Given the description of an element on the screen output the (x, y) to click on. 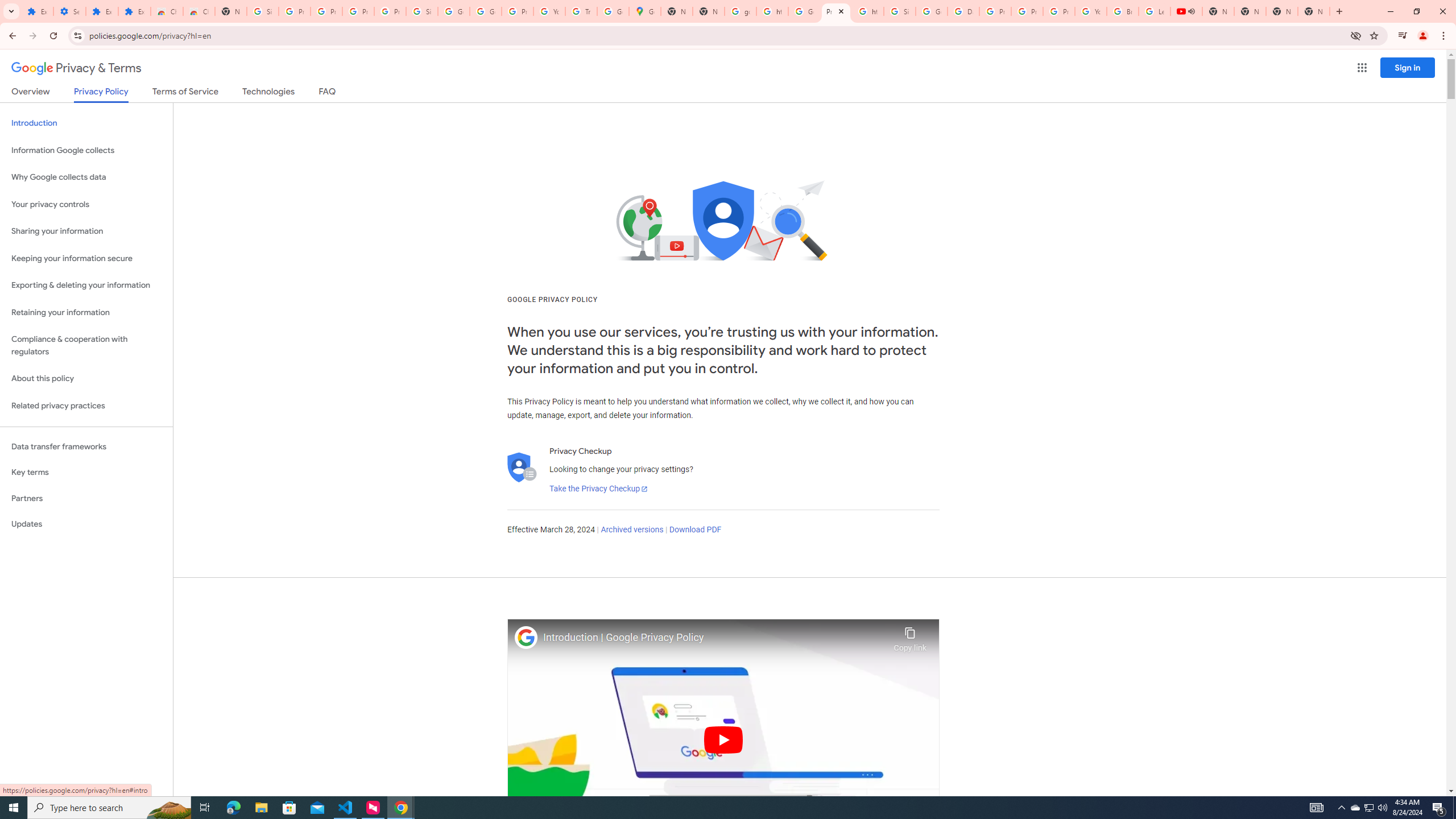
Privacy & Terms (76, 68)
YouTube (1091, 11)
Sign in - Google Accounts (899, 11)
Exporting & deleting your information (86, 284)
Information Google collects (86, 150)
Browse Chrome as a guest - Computer - Google Chrome Help (1123, 11)
Archived versions (631, 529)
Mute tab (1190, 10)
Updates (86, 524)
